Given the description of an element on the screen output the (x, y) to click on. 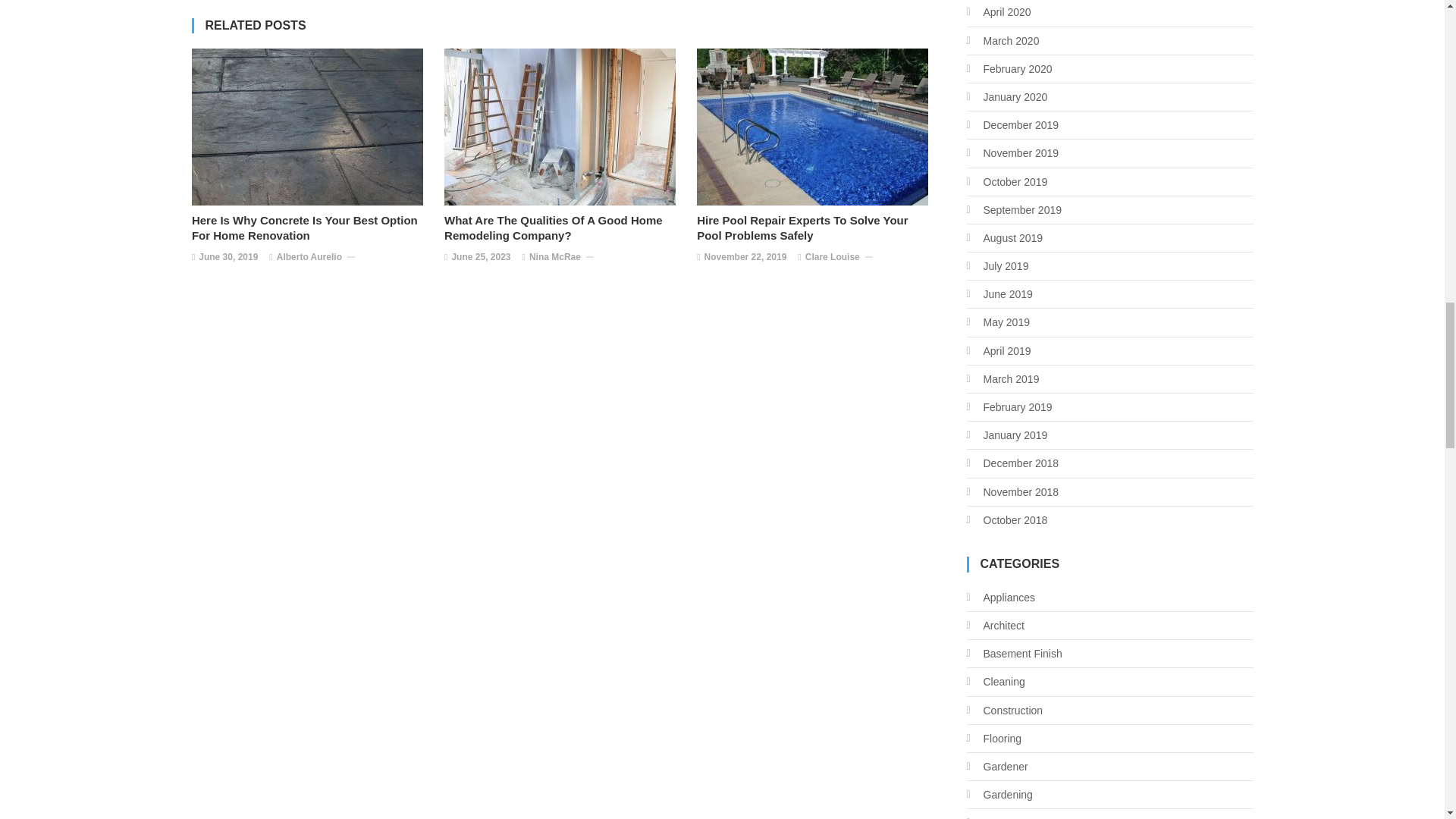
November 22, 2019 (745, 257)
Alberto Aurelio (309, 257)
Here Is Why Concrete Is Your Best Option For Home Renovation (310, 227)
June 25, 2023 (481, 257)
Hire Pool Repair Experts To Solve Your Pool Problems Safely (815, 227)
Nina McRae (554, 257)
Clare Louise (832, 257)
What Are The Qualities Of A Good Home Remodeling Company? (562, 227)
June 30, 2019 (227, 257)
